Given the description of an element on the screen output the (x, y) to click on. 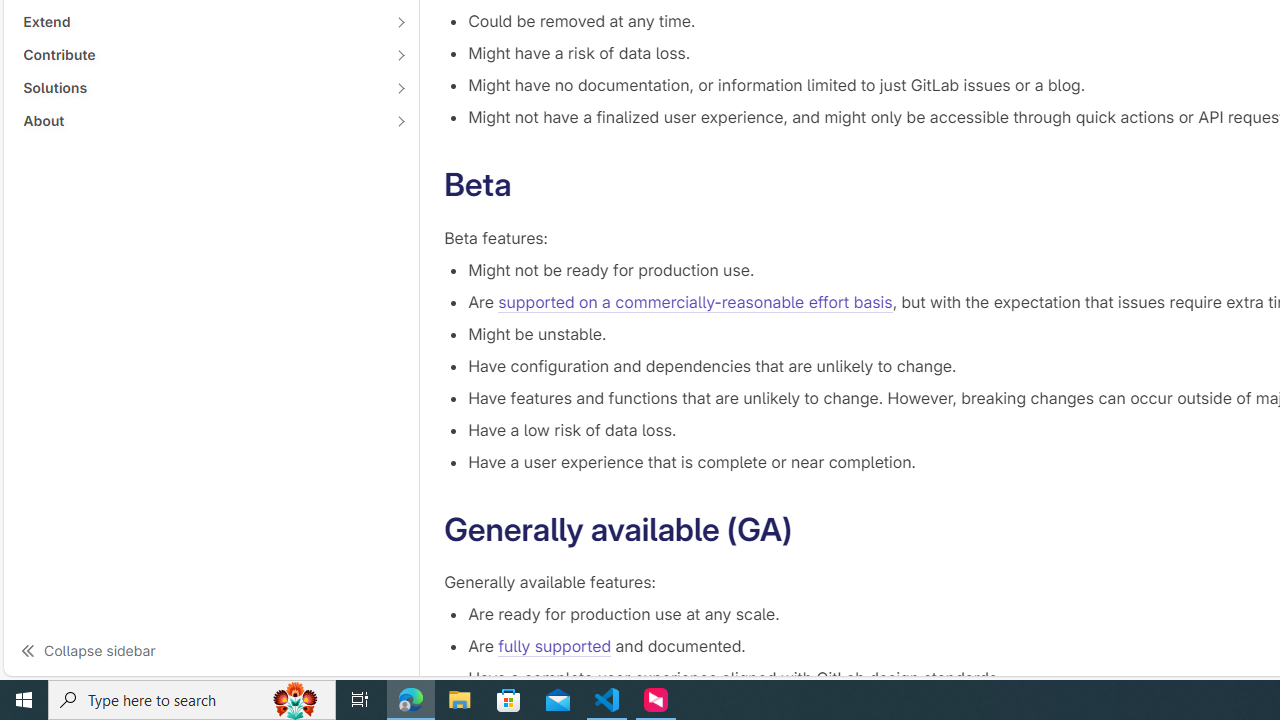
fully supported (554, 646)
Contribute (199, 54)
Extend (199, 21)
supported on a commercially-reasonable effort basis (695, 301)
Collapse sidebar (211, 650)
Permalink (812, 530)
